Given the description of an element on the screen output the (x, y) to click on. 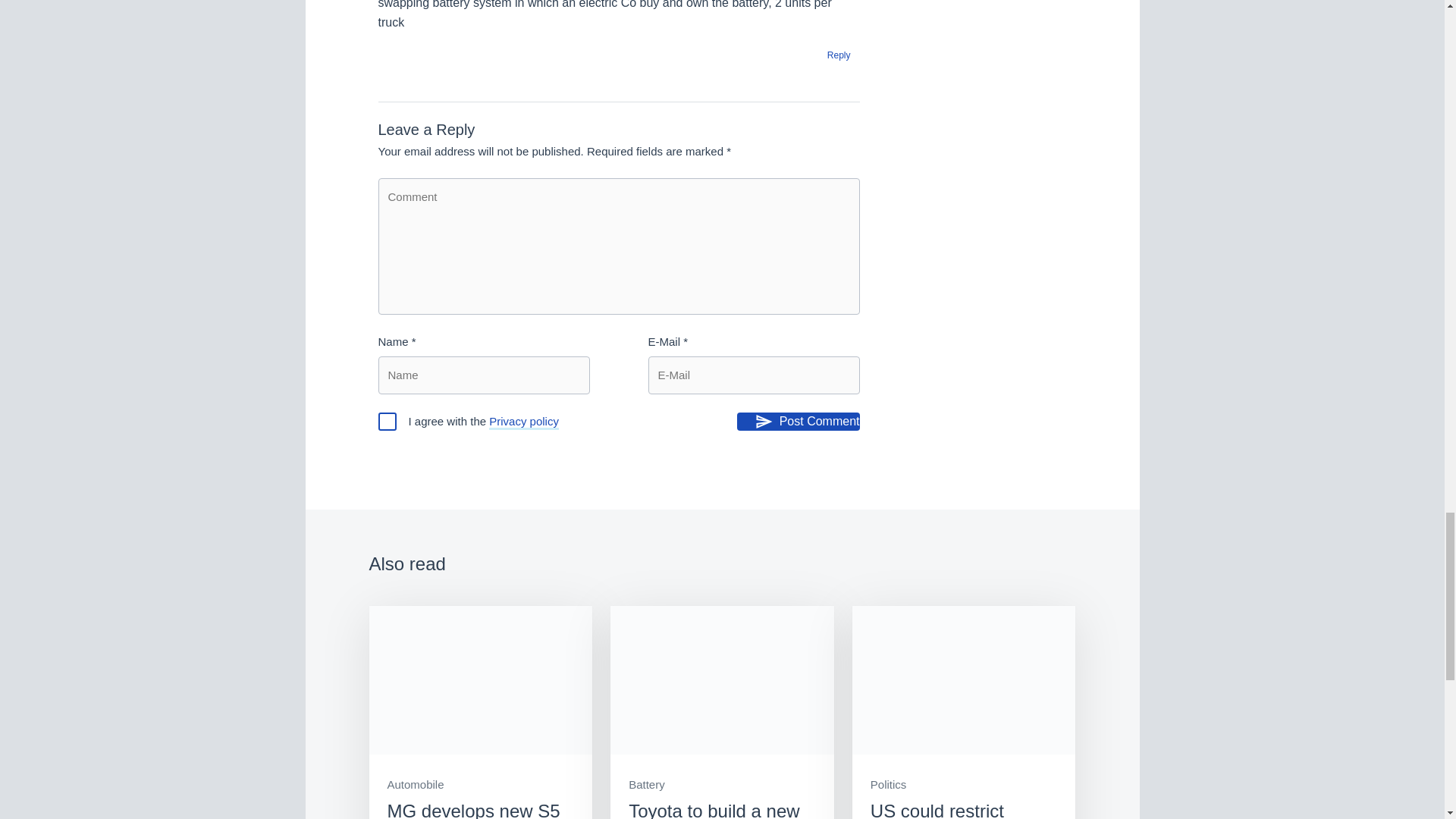
US could restrict Chinese software in cars (963, 712)
MG develops new S5 EV electric compact SUV in China (480, 712)
Toyota to build a new EV battery plant in Japan (722, 712)
Post Comment (798, 421)
